Given the description of an element on the screen output the (x, y) to click on. 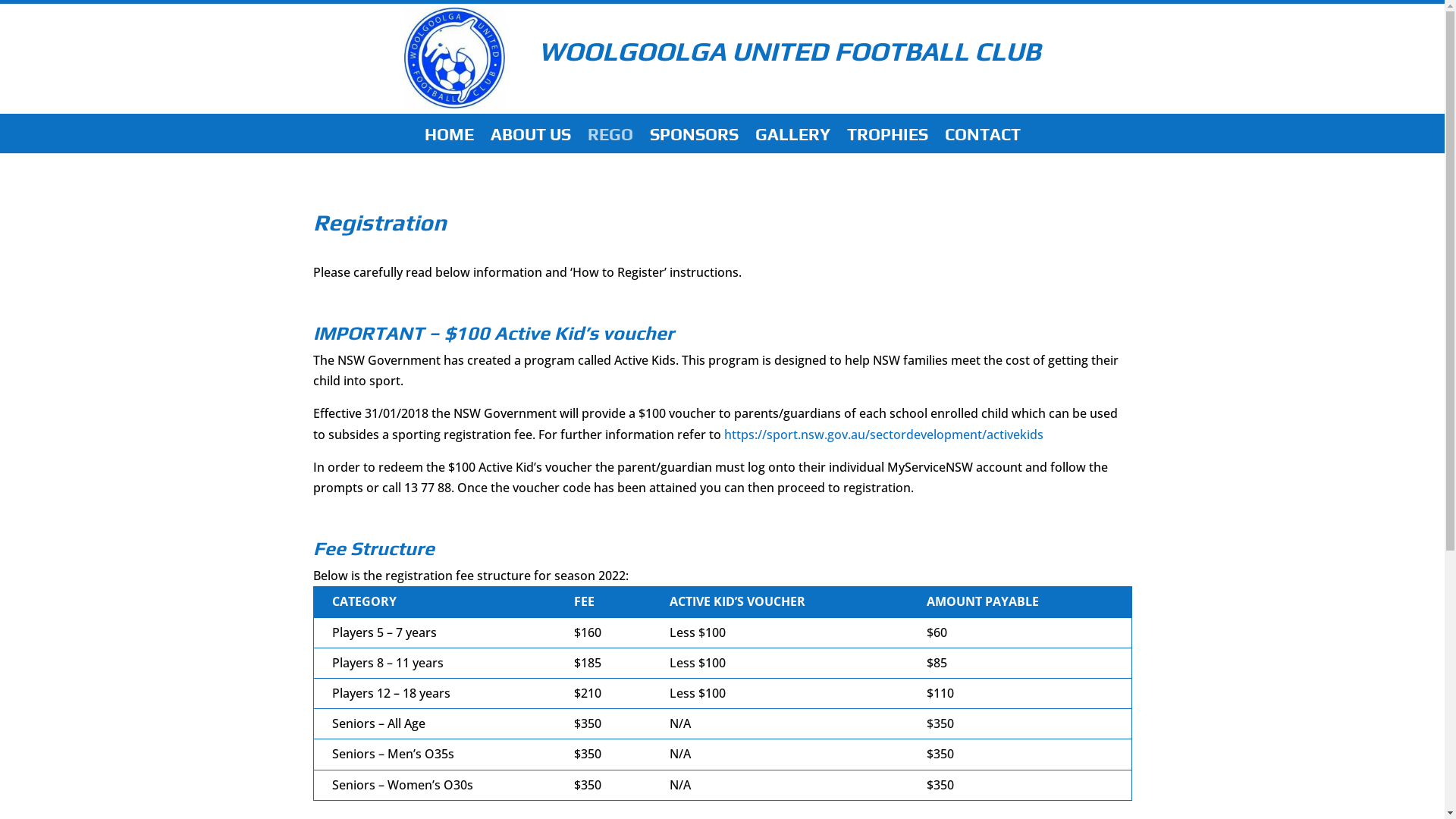
SPONSORS Element type: text (693, 140)
GALLERY Element type: text (792, 140)
TROPHIES Element type: text (886, 140)
CONTACT Element type: text (982, 140)
HOME Element type: text (448, 140)
ABOUT US Element type: text (529, 140)
https://sport.nsw.gov.au/sectordevelopment/activekids Element type: text (882, 434)
REGO Element type: text (609, 140)
